Given the description of an element on the screen output the (x, y) to click on. 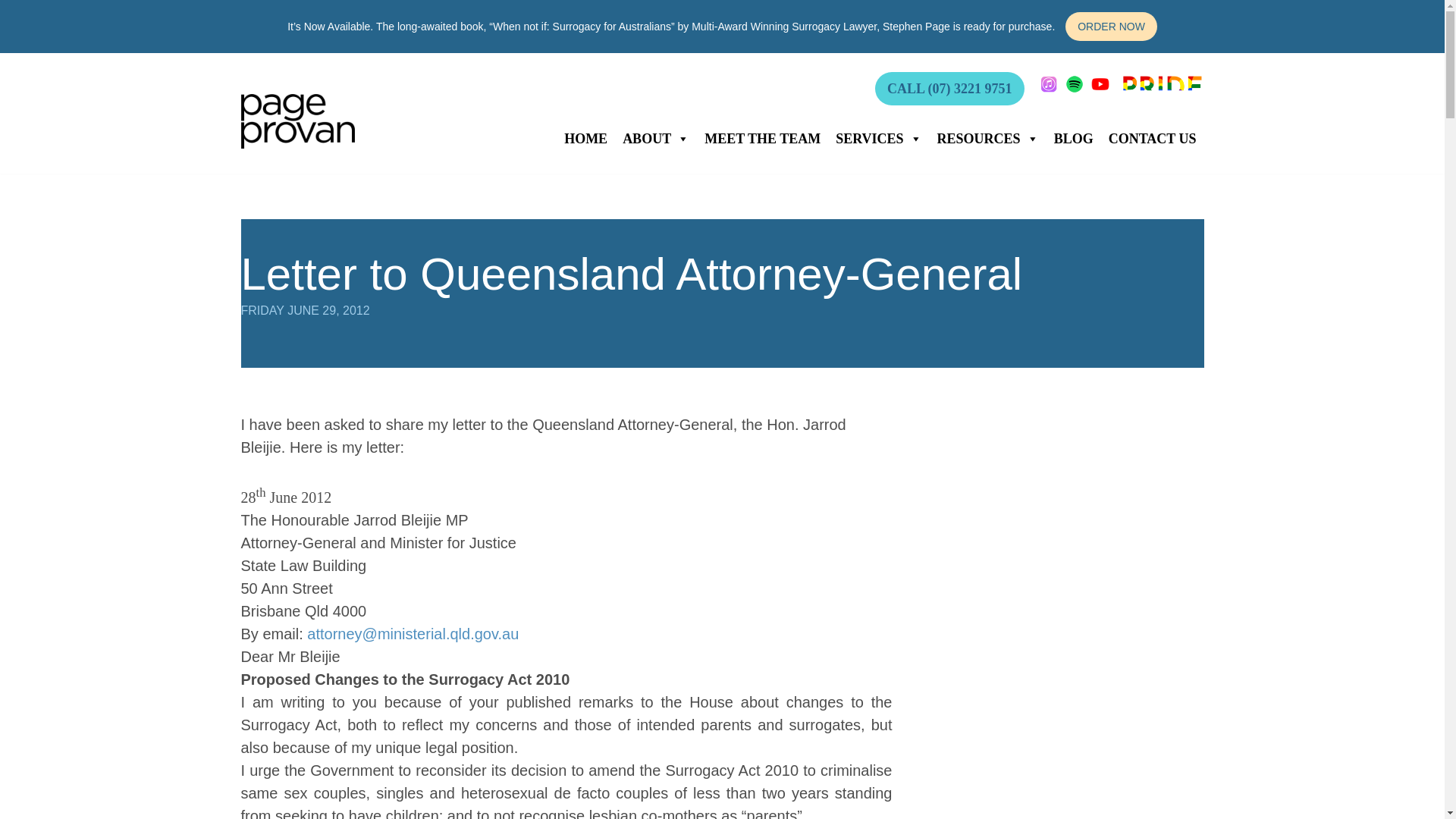
SERVICES (878, 138)
MEET THE TEAM (762, 138)
HOME (585, 138)
ABOUT (655, 138)
CONTACT US (1152, 138)
ORDER NOW (1111, 26)
RESOURCES (988, 138)
BLOG (1073, 138)
Skip to content (11, 31)
